Given the description of an element on the screen output the (x, y) to click on. 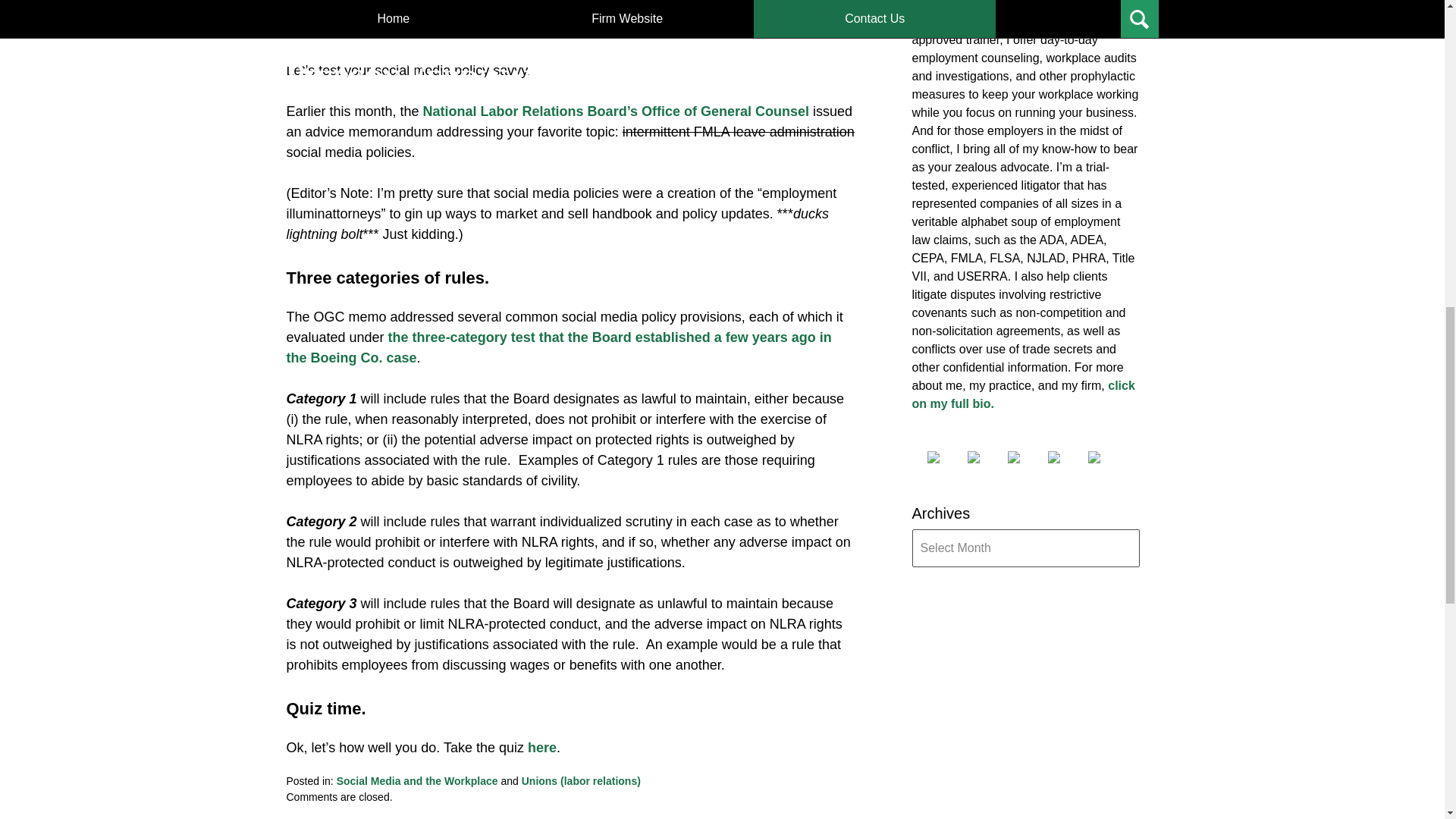
Justia (1066, 457)
click on my full bio. (1022, 394)
here (541, 747)
Social Media and the Workplace (416, 780)
LinkedIn (1025, 457)
Twitter (986, 457)
Feed (1105, 457)
Facebook (944, 457)
View all posts in Social Media and the Workplace (416, 780)
